Given the description of an element on the screen output the (x, y) to click on. 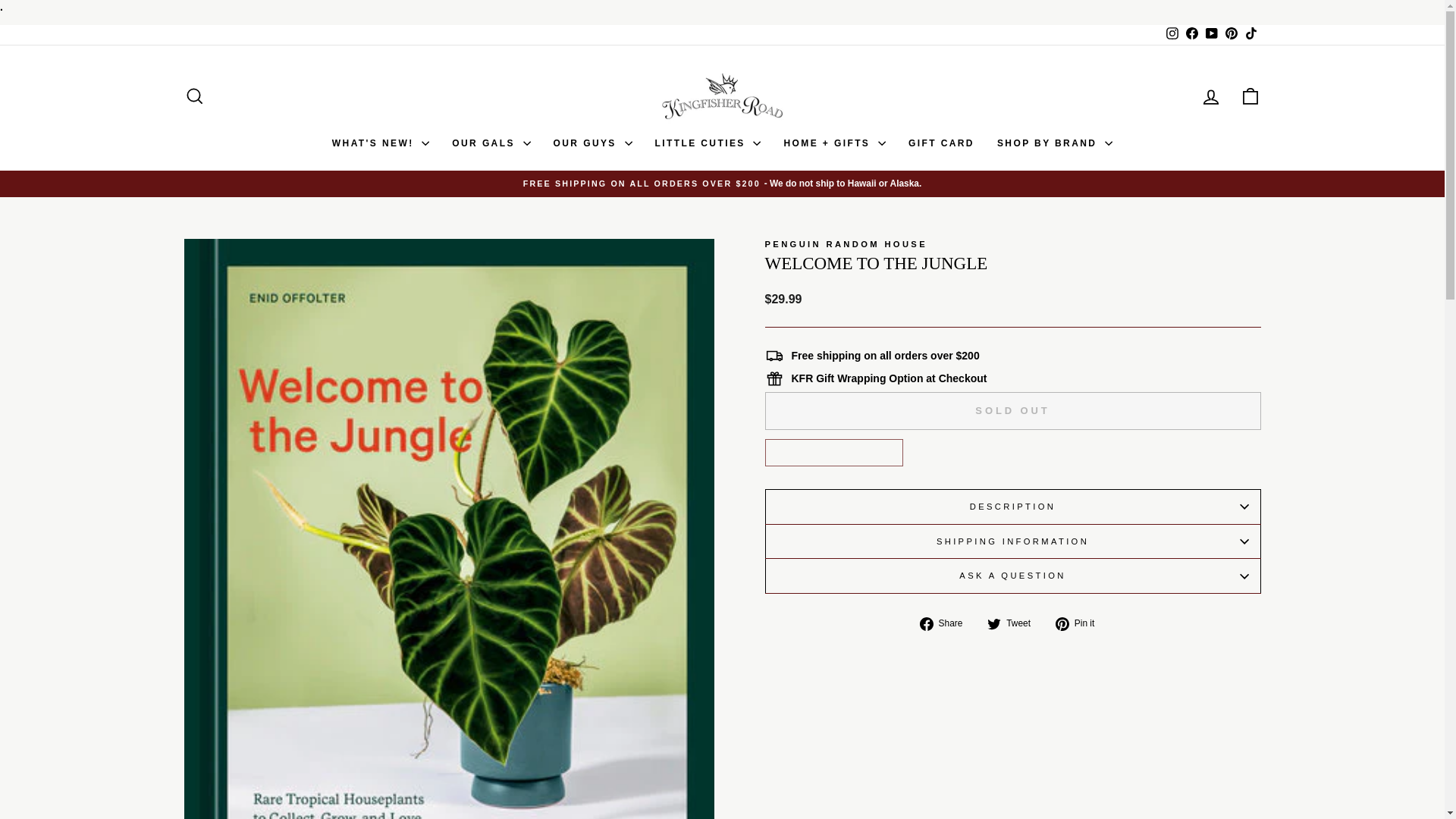
ICON-BAG-MINIMAL (1249, 96)
ICON-SEARCH (194, 96)
Kingfisher Road on YouTube (1211, 35)
ACCOUNT (1210, 96)
Kingfisher Road on Instagram (1170, 35)
Kingfisher Road on Pinterest (1230, 35)
instagram (1171, 33)
Tweet on Twitter (1014, 623)
Share on Facebook (947, 623)
Kingfisher Road on TikTok (1250, 35)
